Given the description of an element on the screen output the (x, y) to click on. 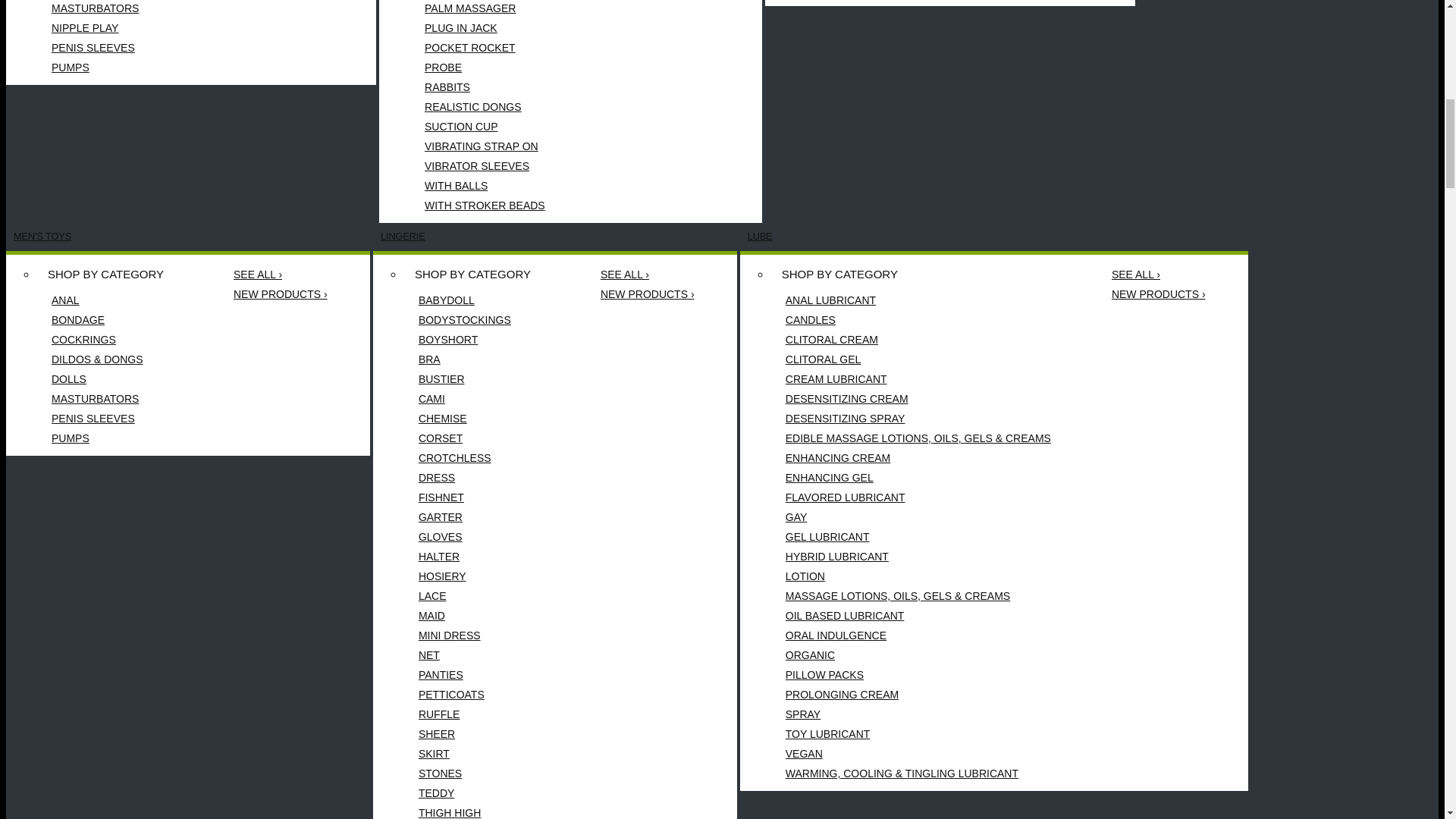
PENIS SLEEVES (114, 47)
NIPPLE PLAY (114, 27)
MASTURBATORS (114, 9)
PUMPS (114, 66)
